Given the description of an element on the screen output the (x, y) to click on. 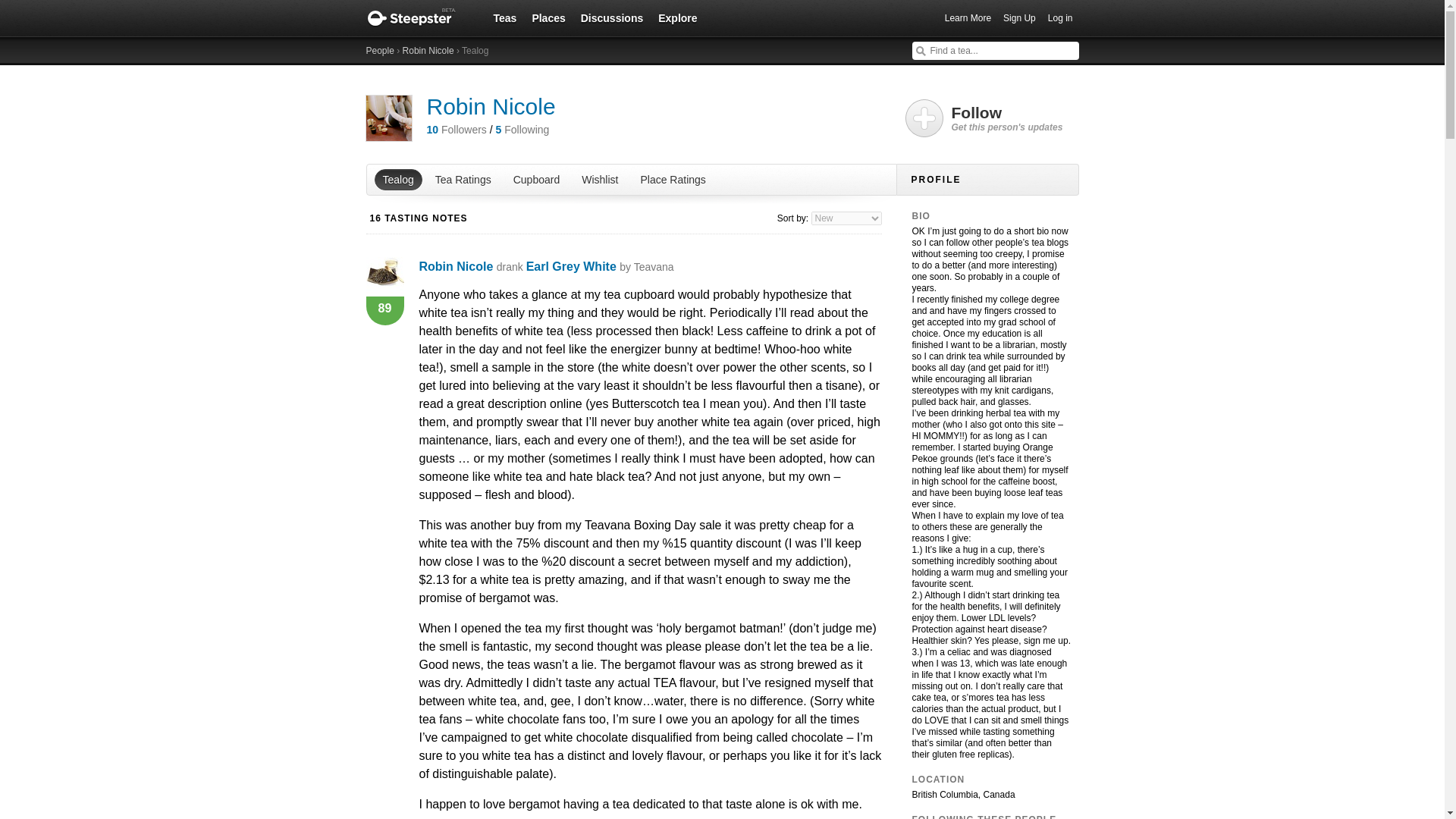
Robin Nicole (456, 266)
Tealog (398, 179)
Explore (677, 17)
Robin Nicole (428, 50)
People (379, 50)
Steepster (418, 18)
Learn More (968, 18)
Discussions (612, 17)
Places (547, 17)
Wishlist (599, 179)
